Given the description of an element on the screen output the (x, y) to click on. 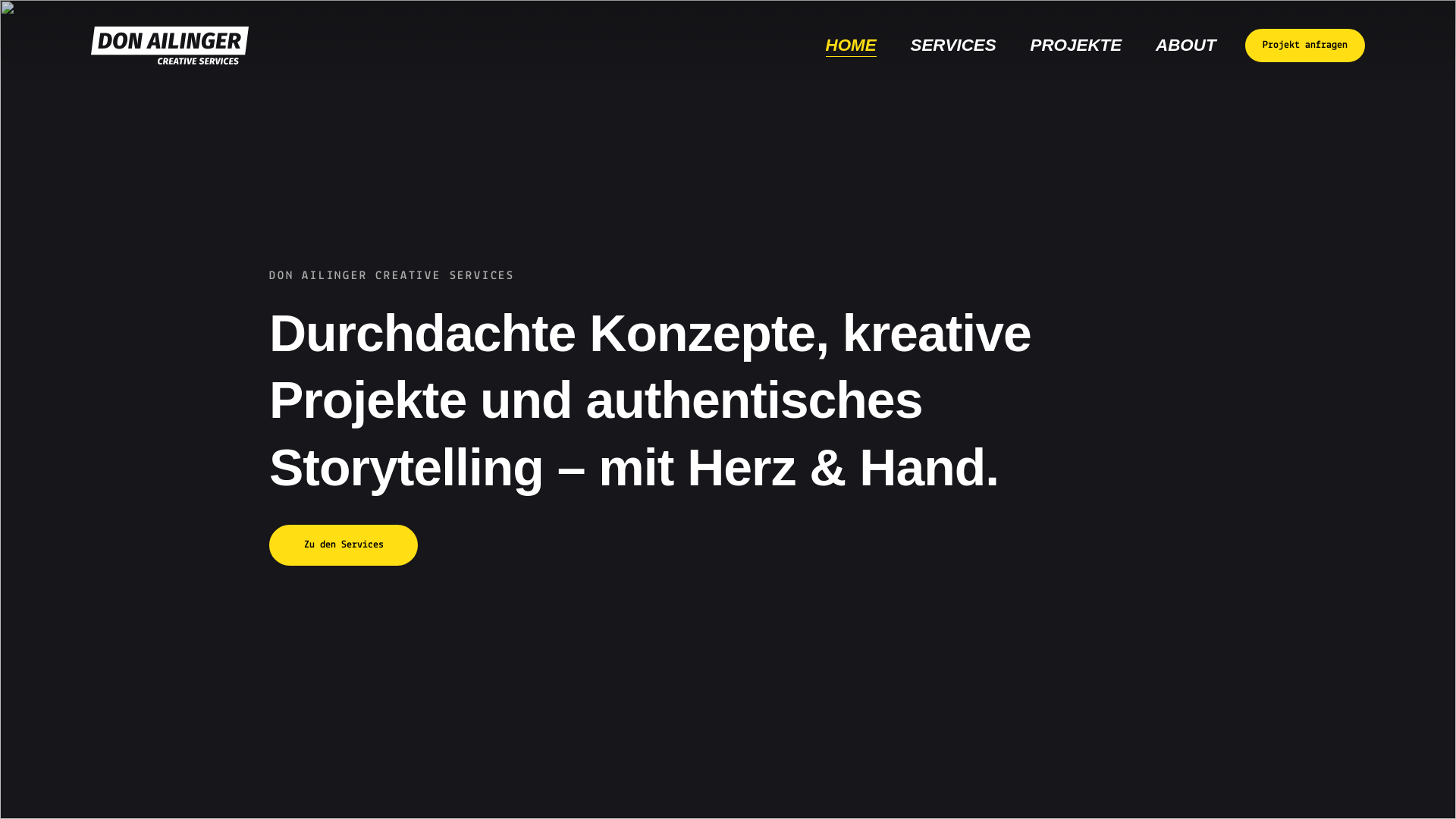
HOME Element type: text (850, 45)
Zu den Services Element type: text (343, 544)
SERVICES Element type: text (953, 45)
PROJEKTE Element type: text (1075, 45)
  Element type: text (807, 72)
ABOUT Element type: text (1186, 45)
Projekt anfragen Element type: text (1305, 45)
